Given the description of an element on the screen output the (x, y) to click on. 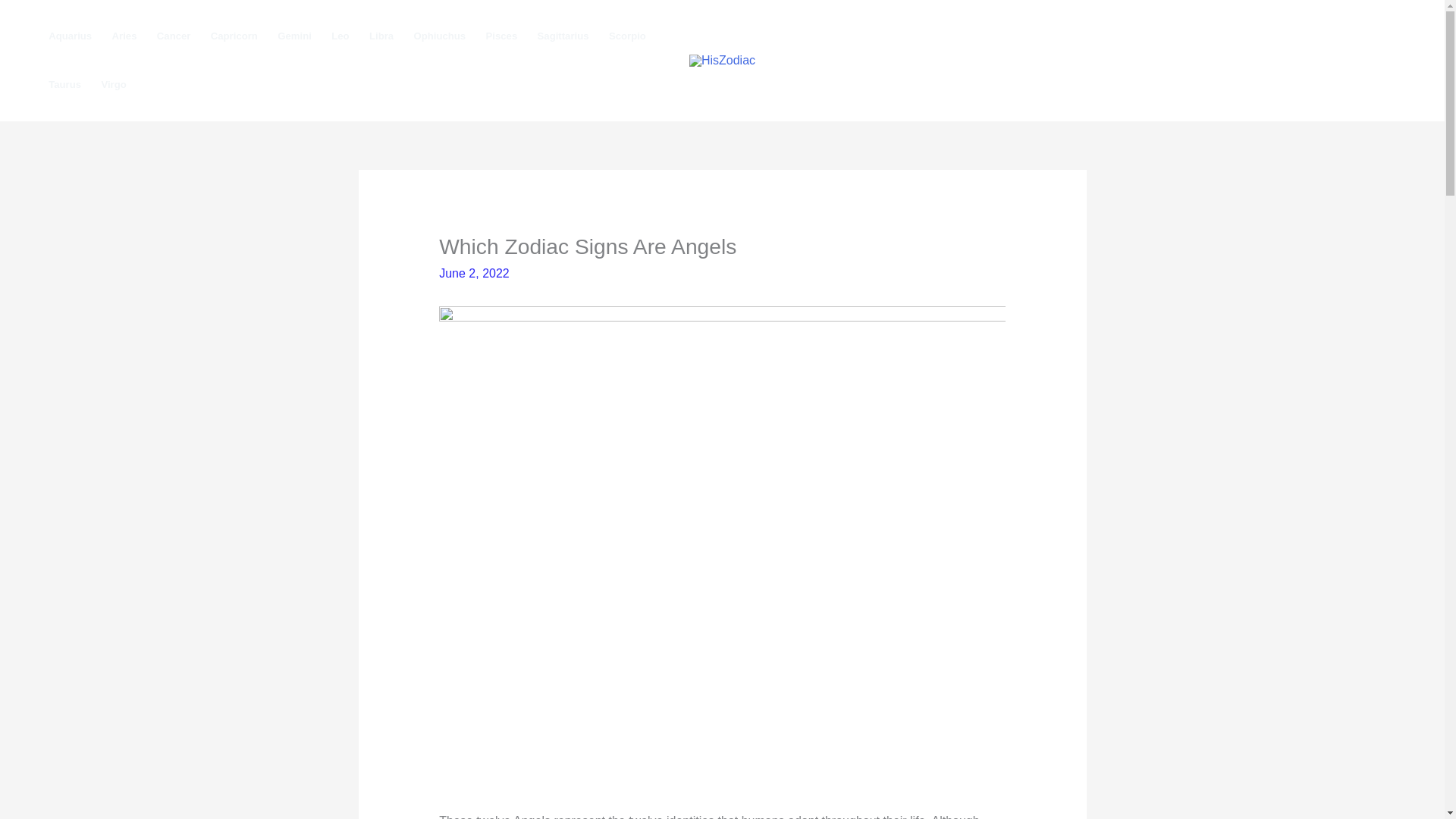
Pisces (501, 36)
Sagittarius (562, 36)
Aquarius (70, 36)
Ophiuchus (439, 36)
Gemini (294, 36)
Cancer (173, 36)
Scorpio (627, 36)
Aries (124, 36)
Virgo (113, 84)
Taurus (64, 84)
Capricorn (233, 36)
Libra (381, 36)
